Given the description of an element on the screen output the (x, y) to click on. 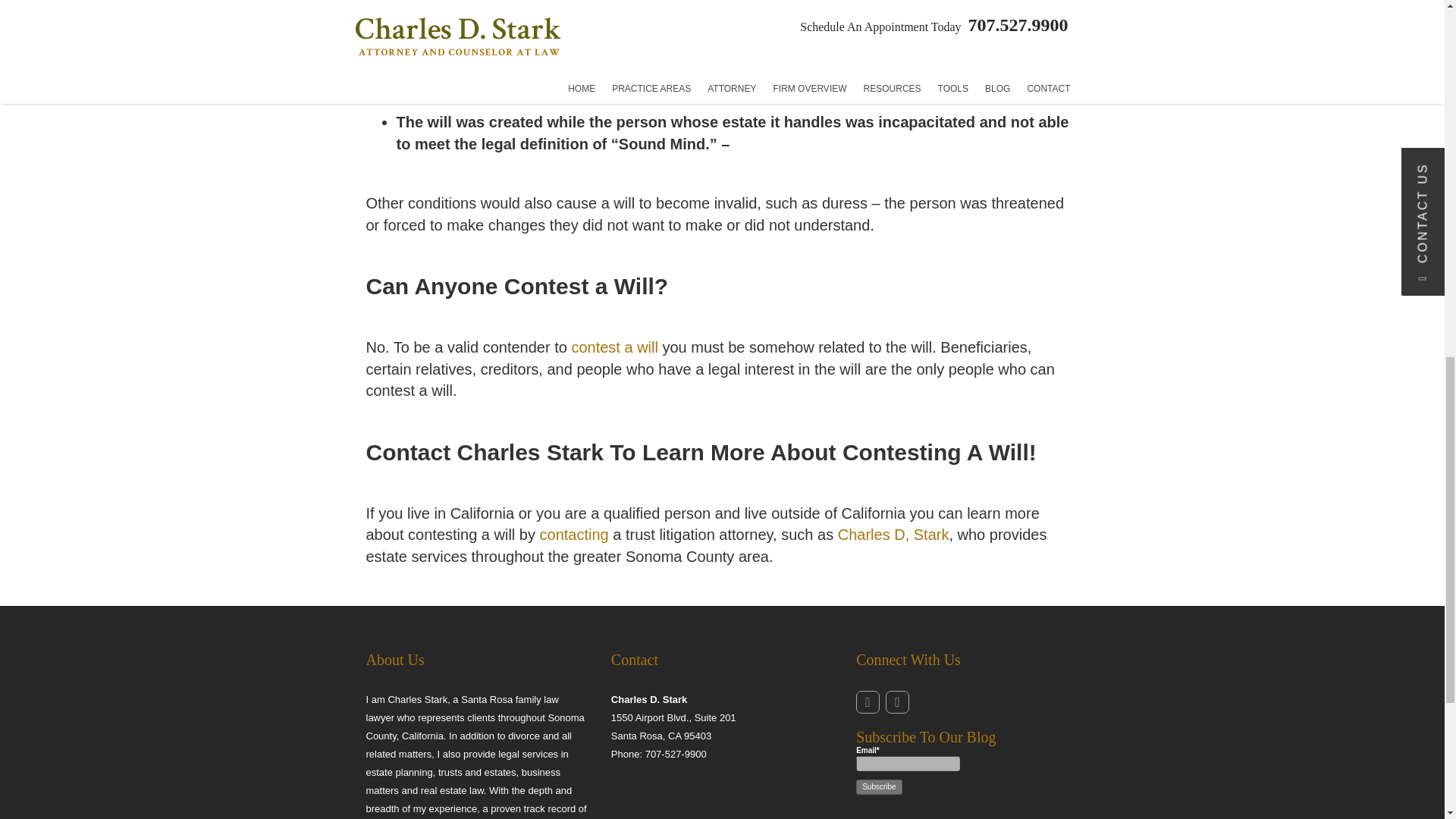
Charles D, Stark (893, 534)
Subscribe (878, 786)
contest a will (614, 347)
Subscribe (878, 786)
contacting (574, 534)
